Given the description of an element on the screen output the (x, y) to click on. 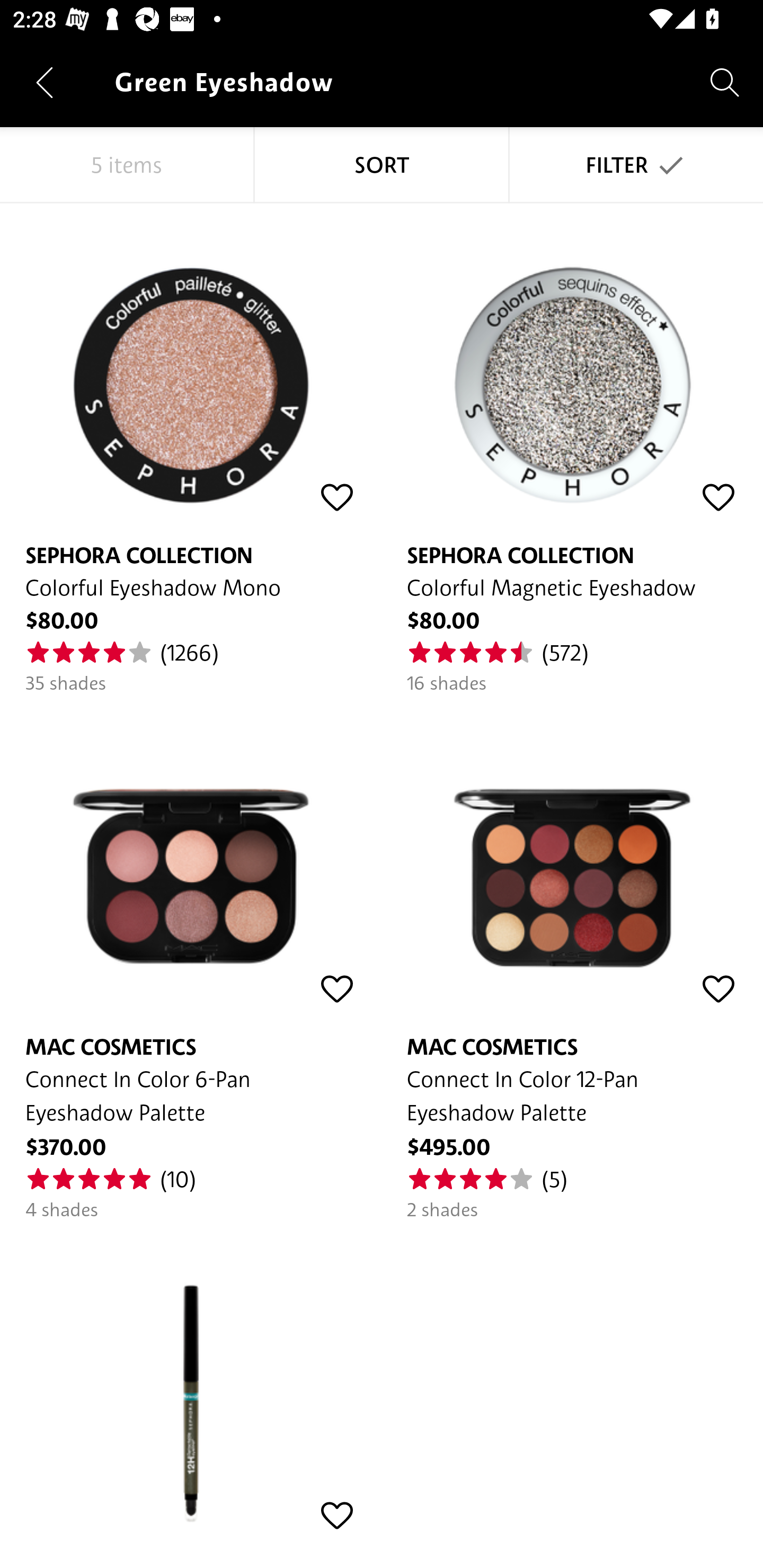
Navigate up (44, 82)
Search (724, 81)
SORT (381, 165)
FILTER (636, 165)
SEPHORA COLLECTION (190, 1381)
